Given the description of an element on the screen output the (x, y) to click on. 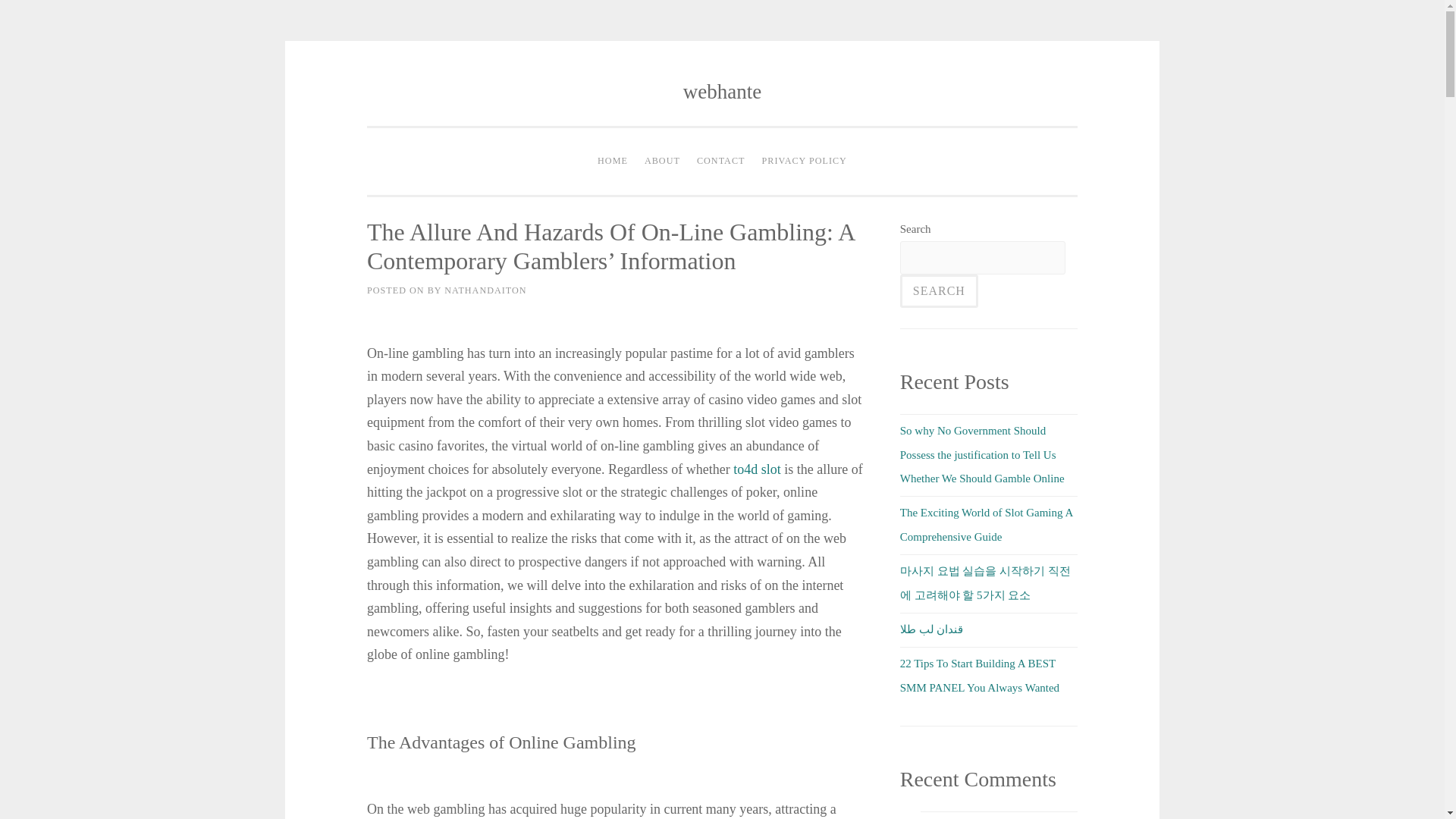
Skip to content (400, 91)
22 Tips To Start Building A BEST SMM PANEL You Always Wanted (979, 674)
SEARCH (938, 290)
NATHANDAITON (484, 290)
The Exciting World of Slot Gaming A Comprehensive Guide (986, 524)
ABOUT (662, 161)
CONTACT (721, 161)
webhante (721, 91)
HOME (612, 161)
webhante (721, 91)
to4d slot (756, 468)
PRIVACY POLICY (804, 161)
